Given the description of an element on the screen output the (x, y) to click on. 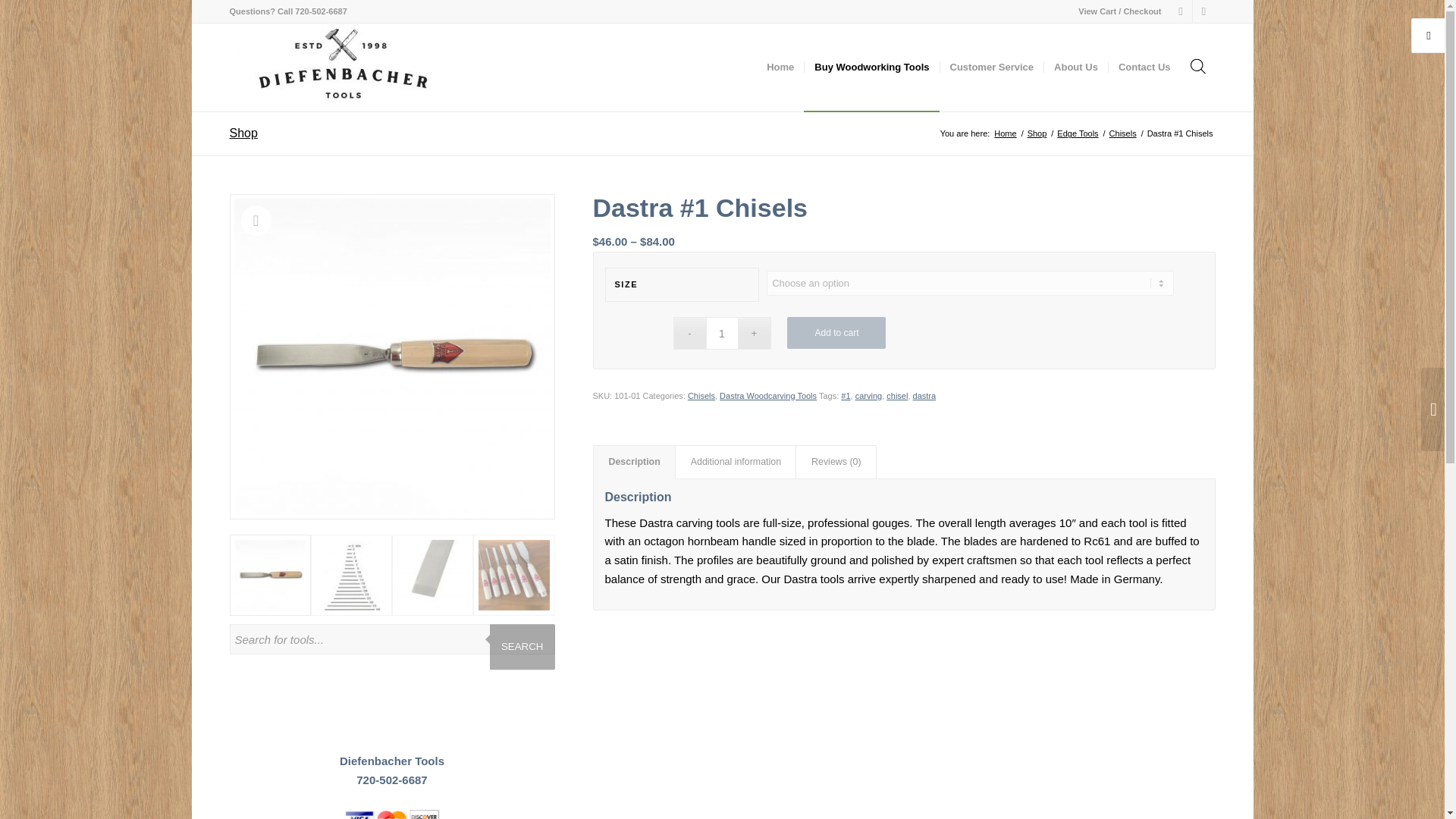
Additional information (735, 462)
Diefenbacher Tools (1004, 133)
Buy Woodworking Tools (871, 67)
OLYMPUS DIGITAL CAMERA (391, 357)
1 (721, 332)
Description (633, 462)
Shop (1037, 133)
Permanent Link: Shop (242, 132)
- (689, 332)
